Given the description of an element on the screen output the (x, y) to click on. 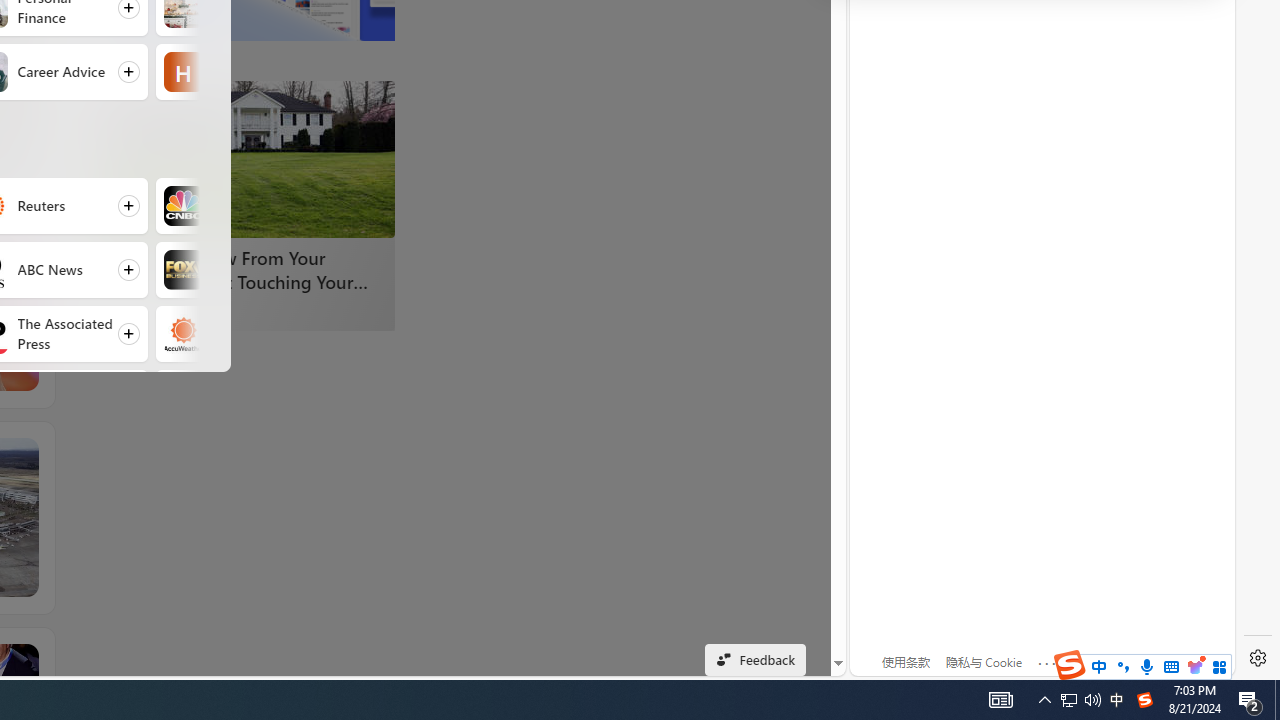
Follow AccuWeather (249, 334)
How To Borrow From Your Home Without Touching Your Mortgage (244, 269)
Fox Business (182, 269)
LendingTree (172, 309)
Follow CNBC (249, 205)
AccuWeather (182, 333)
CNBC (182, 205)
Follow Fox Business (249, 269)
See more (24, 657)
Settings (1258, 658)
Follow BBC (249, 398)
